Given the description of an element on the screen output the (x, y) to click on. 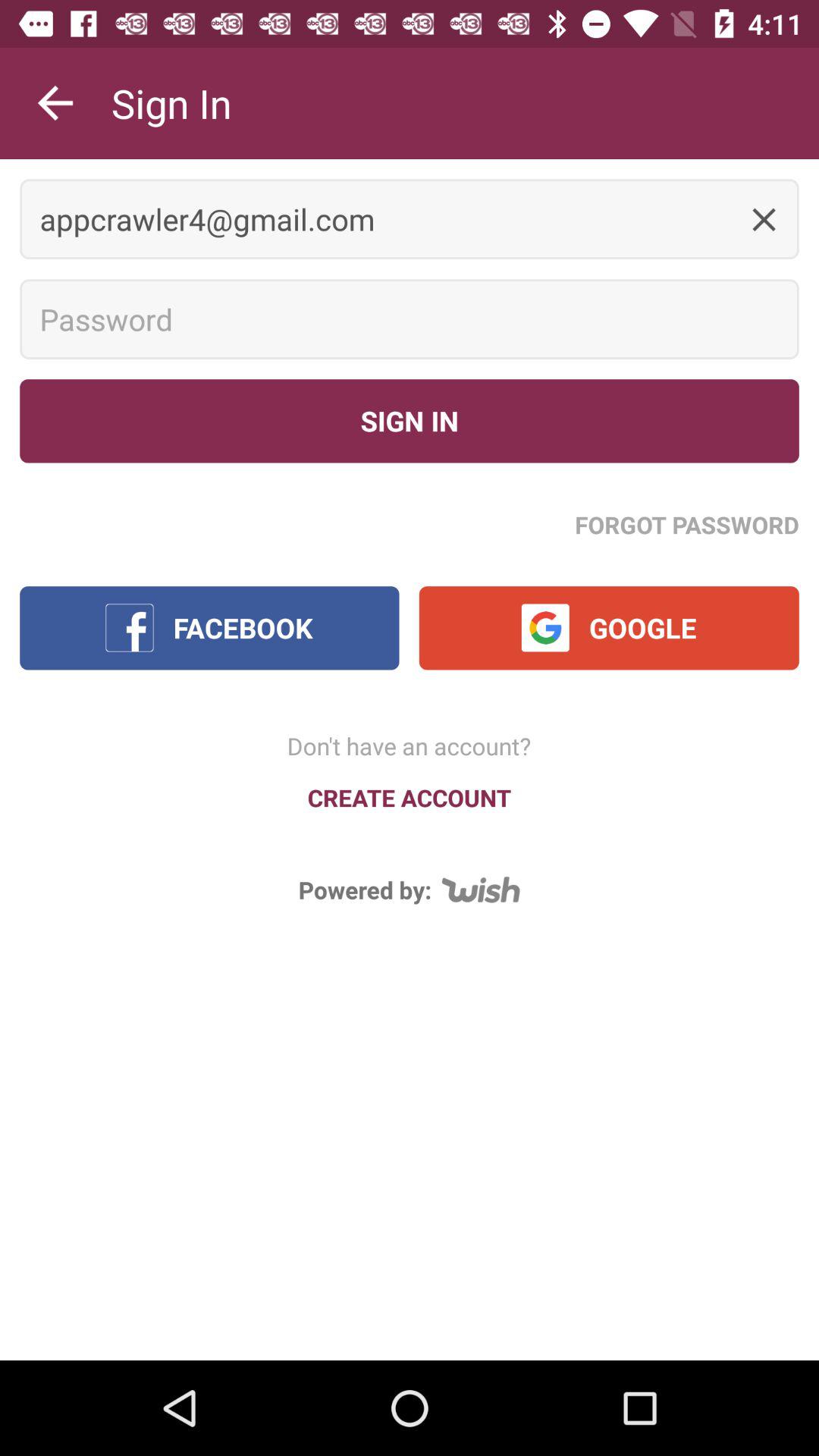
select icon to the left of the sign in icon (55, 103)
